Given the description of an element on the screen output the (x, y) to click on. 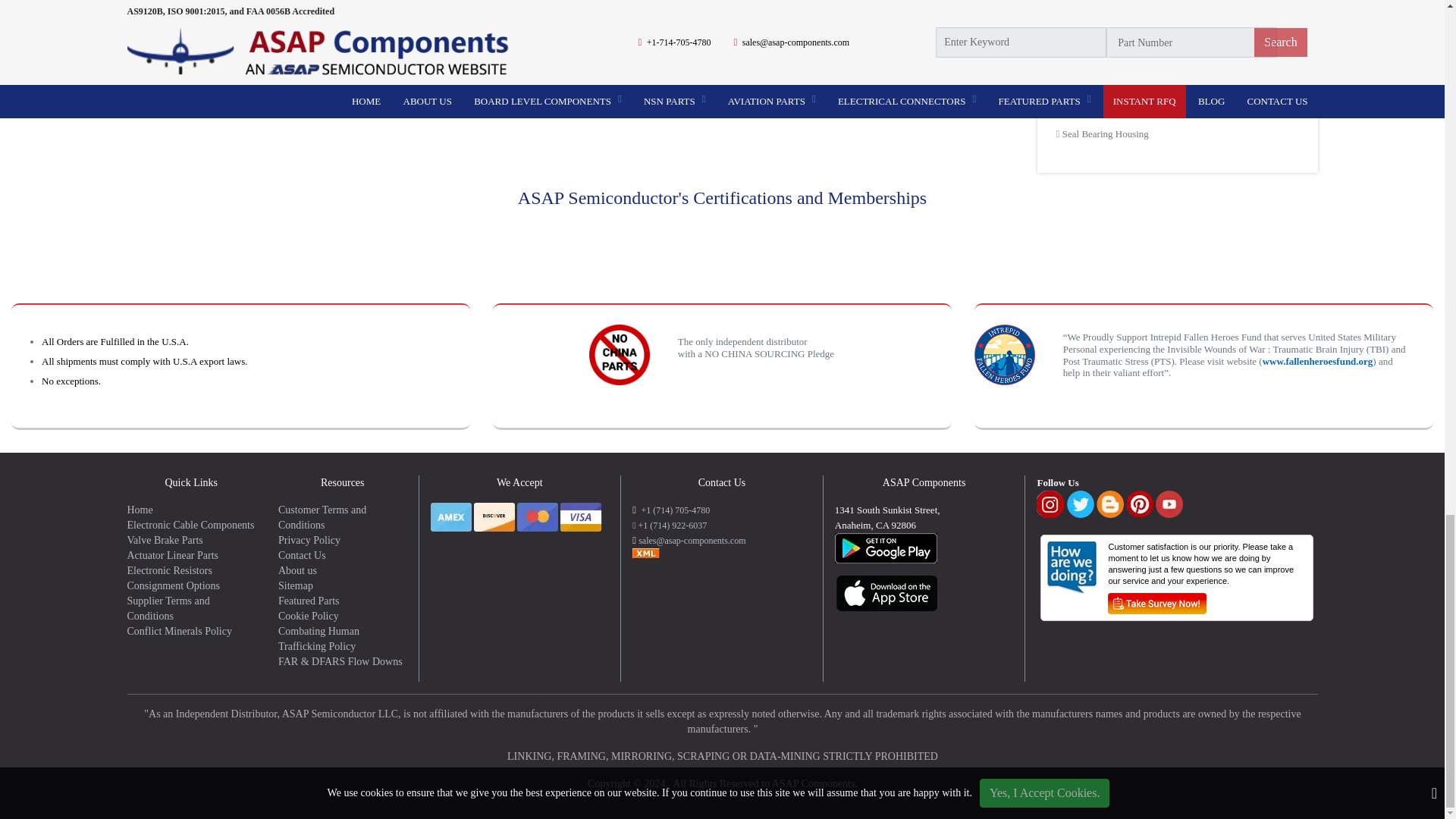
copyright (722, 748)
